Given the description of an element on the screen output the (x, y) to click on. 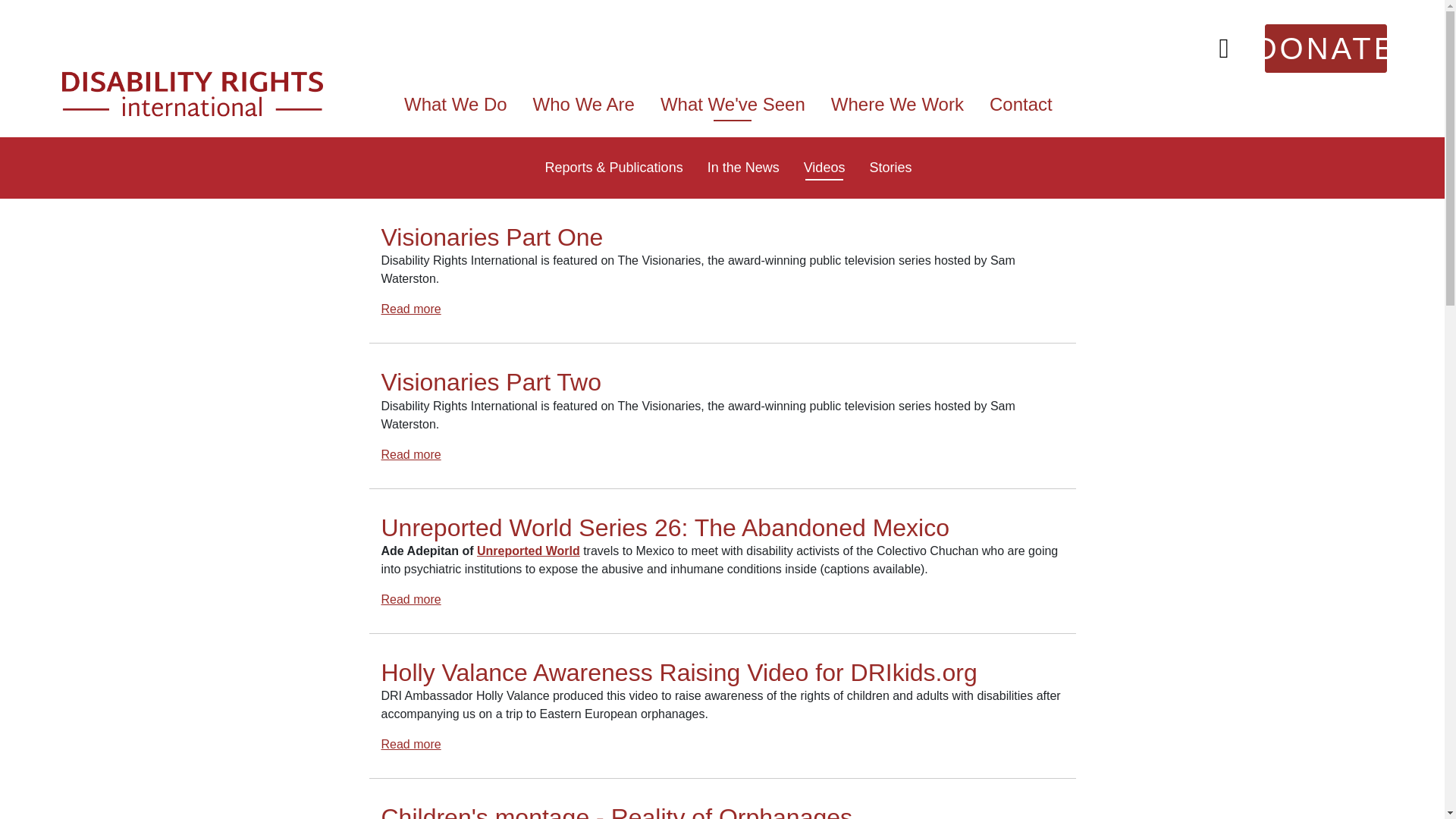
Unreported World Series 26: The Abandoned Mexico (664, 527)
Unreported World Series 26: The Abandoned Mexico (410, 599)
Visionaries Part One (410, 308)
Visionaries Part Two (490, 381)
In the News (743, 167)
What We've Seen (732, 108)
Expand menu Who We Are (583, 108)
Visionaries Part Two (410, 454)
DONATE (1326, 48)
Videos (824, 167)
Unreported World (528, 550)
What We Do (455, 108)
Visionaries Part One (491, 236)
Stories (890, 167)
